Given the description of an element on the screen output the (x, y) to click on. 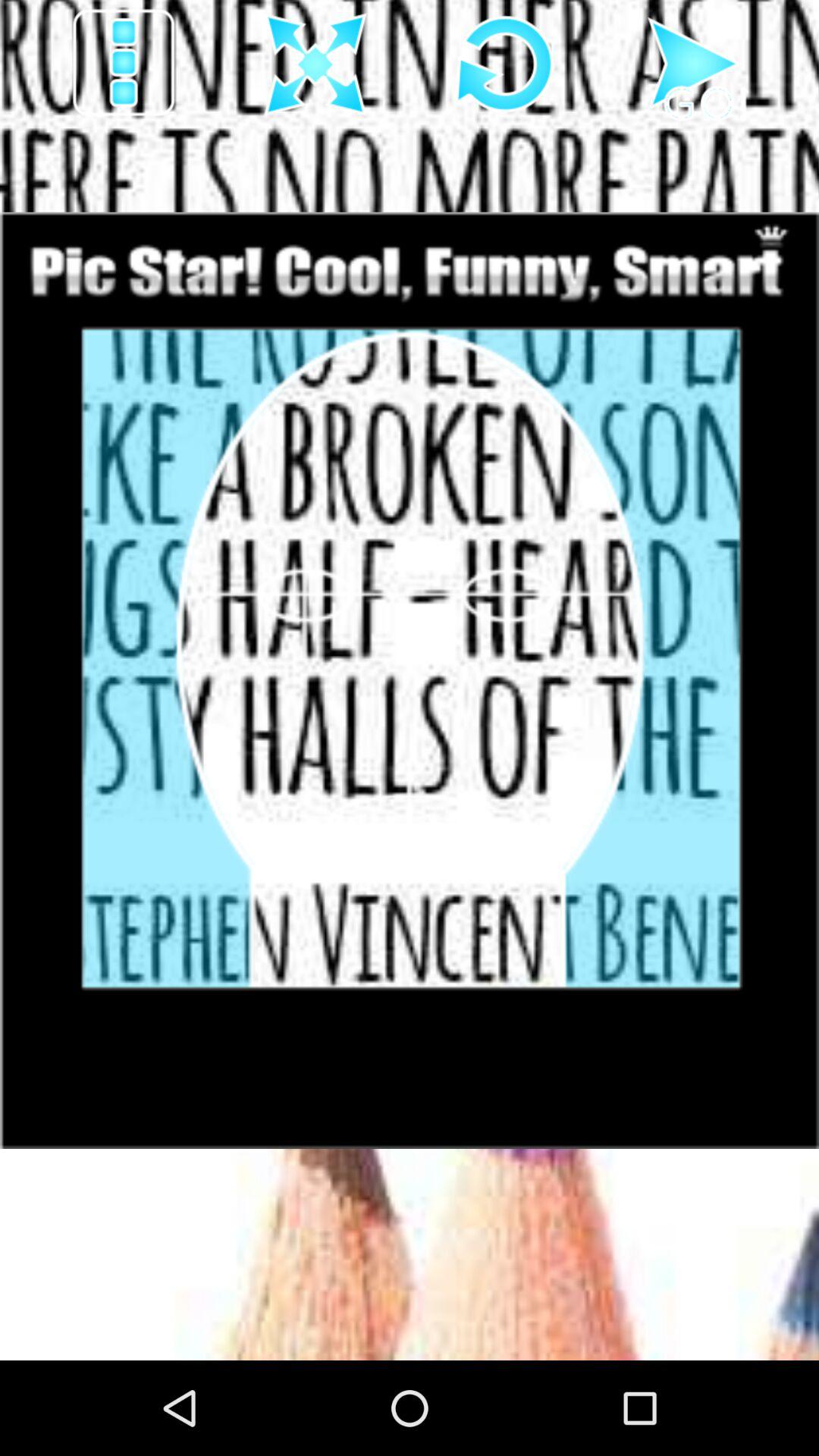
press play aarow (694, 64)
